Given the description of an element on the screen output the (x, y) to click on. 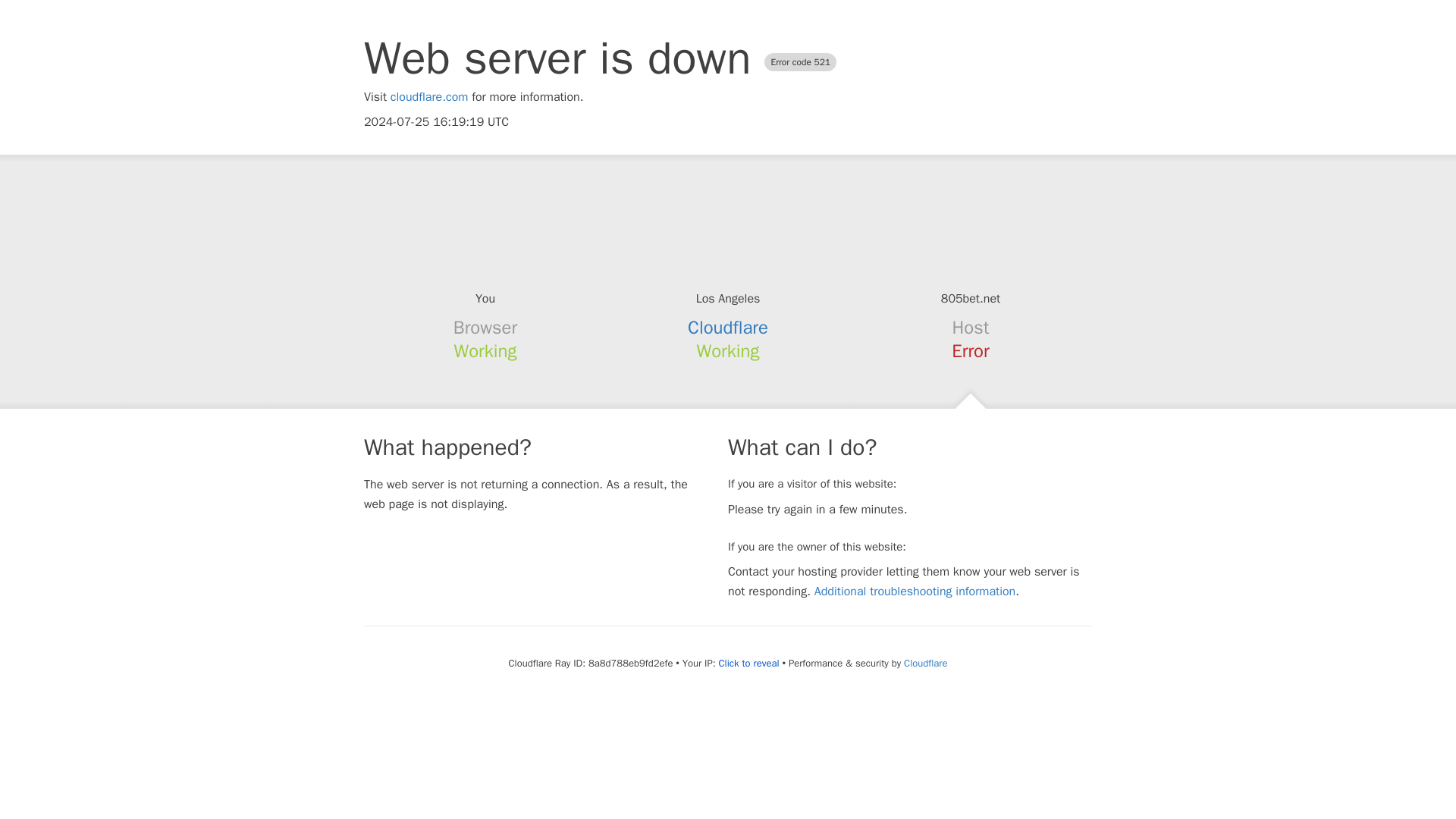
Click to reveal (748, 663)
cloudflare.com (429, 96)
Cloudflare (925, 662)
Cloudflare (727, 327)
Additional troubleshooting information (913, 590)
